Given the description of an element on the screen output the (x, y) to click on. 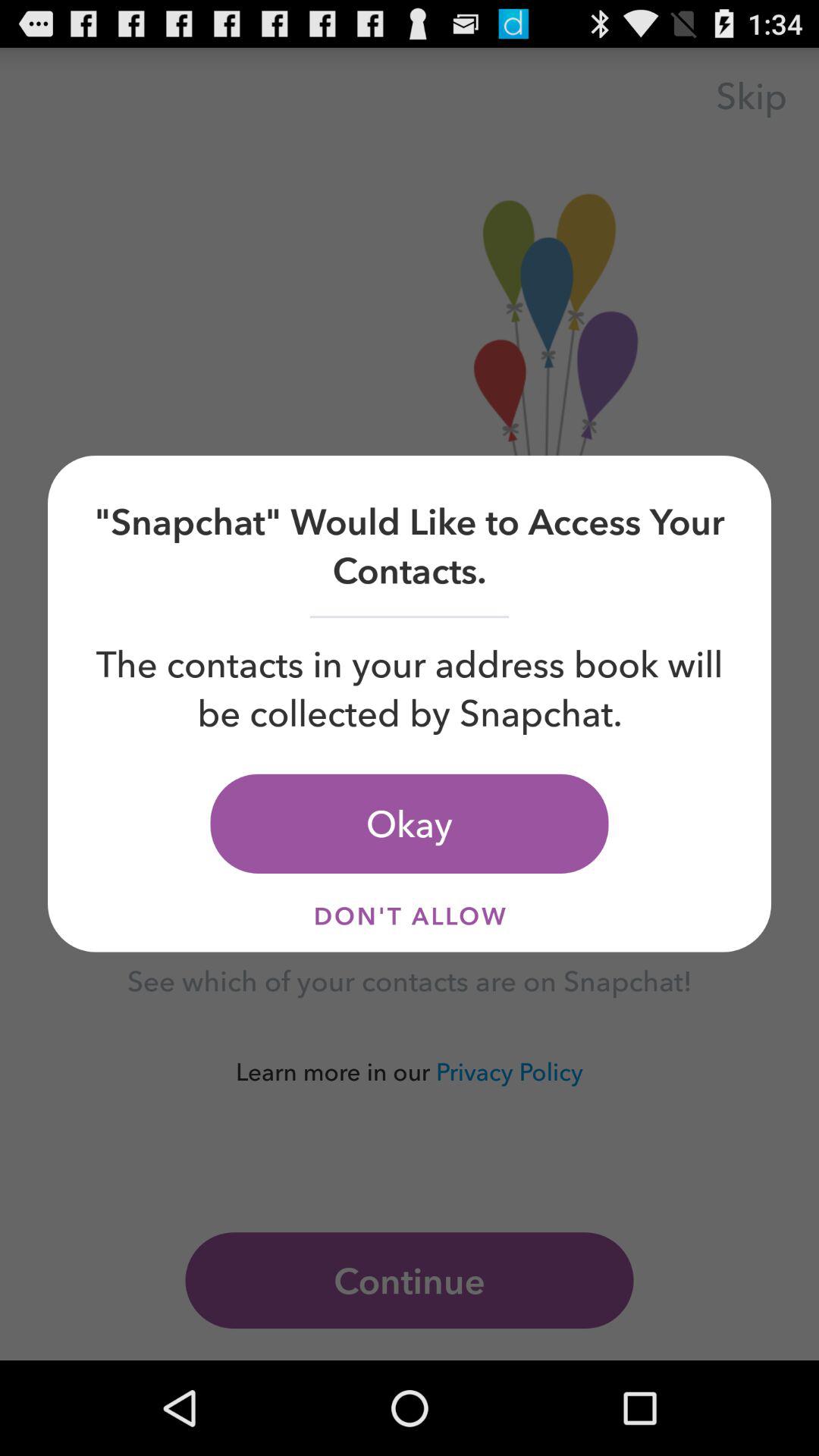
scroll until okay item (409, 823)
